Given the description of an element on the screen output the (x, y) to click on. 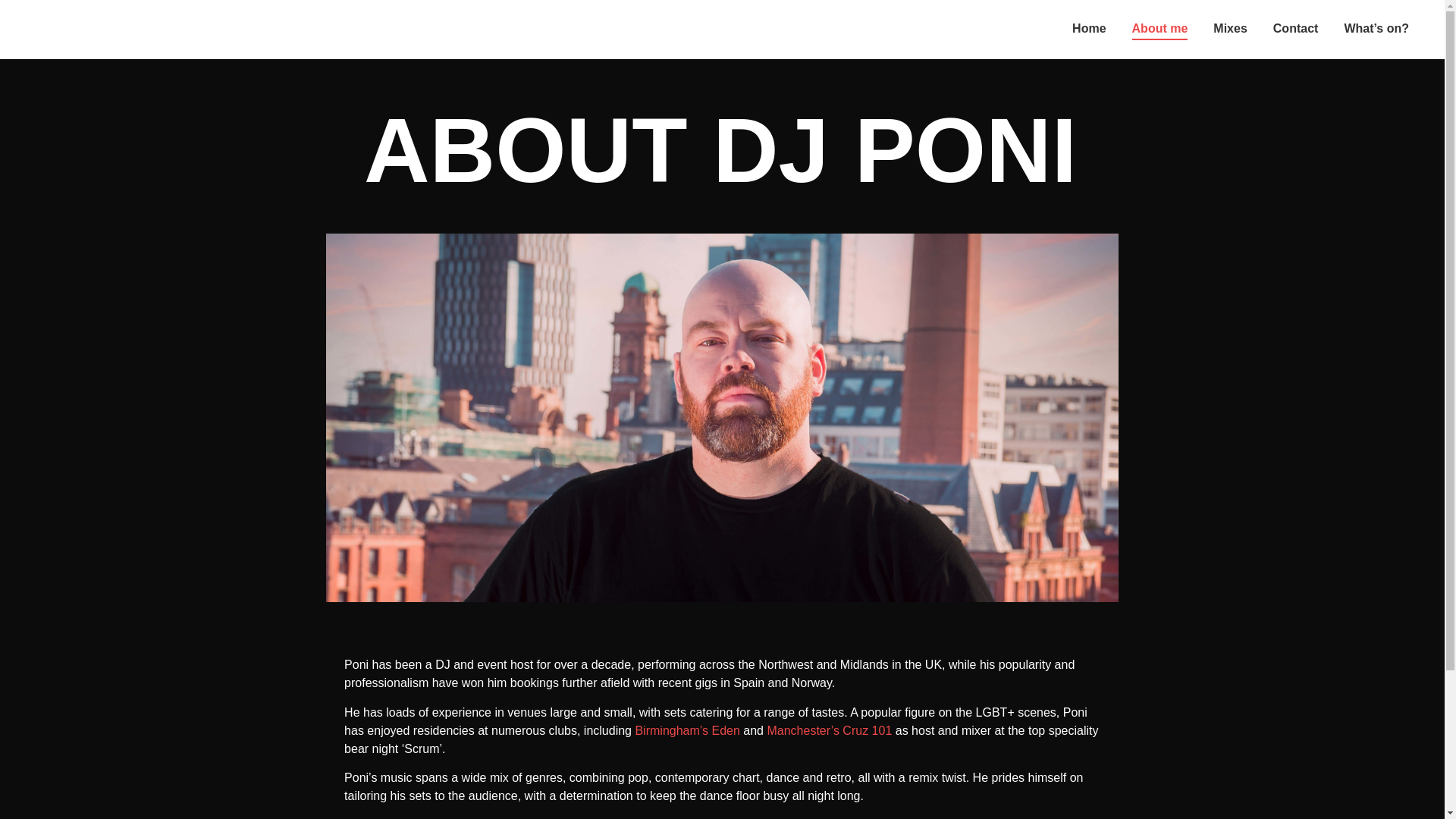
Mixes (1230, 29)
Contact (1295, 29)
Home (1088, 29)
About me (1159, 29)
